Given the description of an element on the screen output the (x, y) to click on. 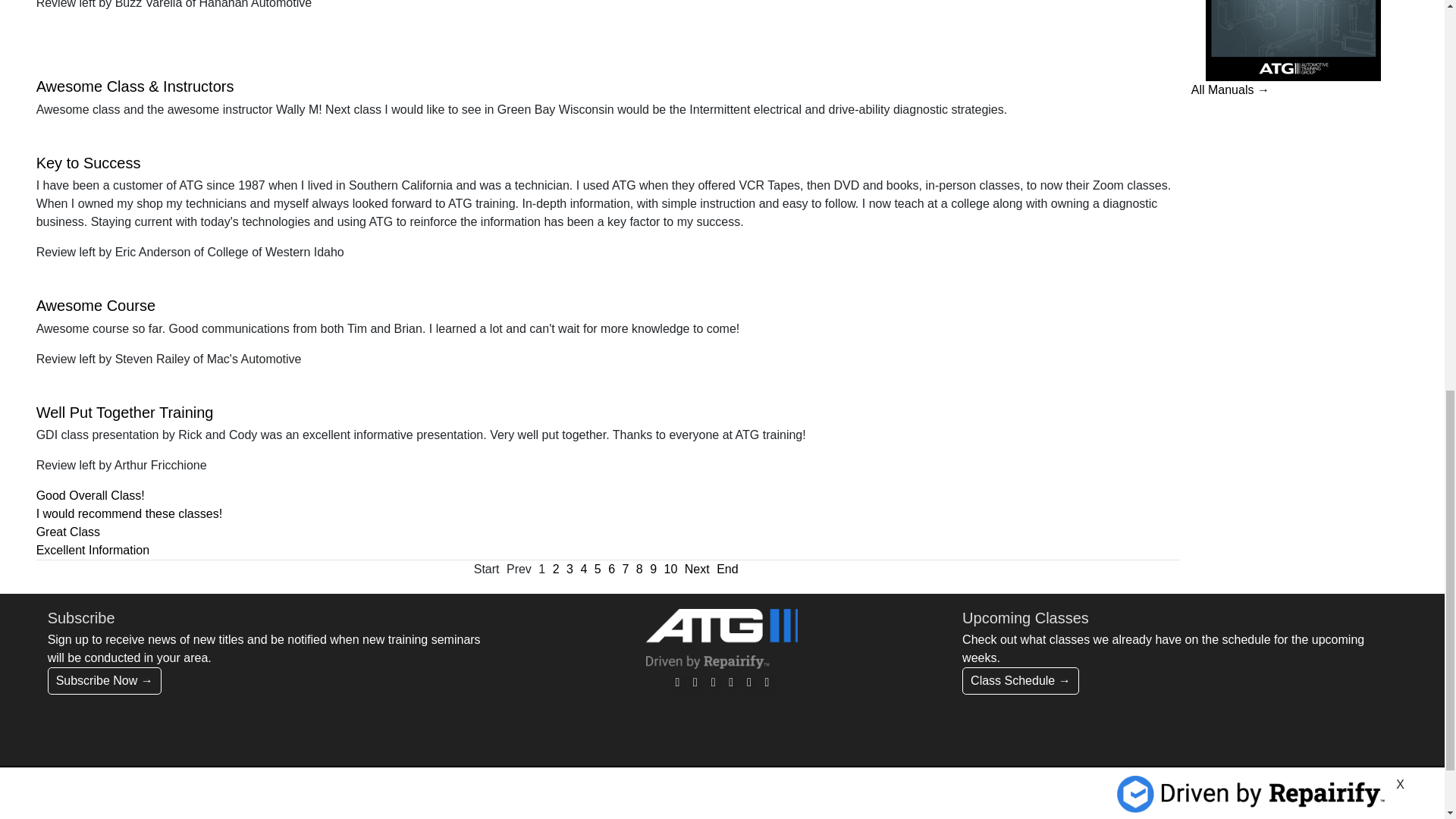
Key to Success (88, 162)
Well Put Together Training (125, 412)
Awesome Course (95, 305)
